Given the description of an element on the screen output the (x, y) to click on. 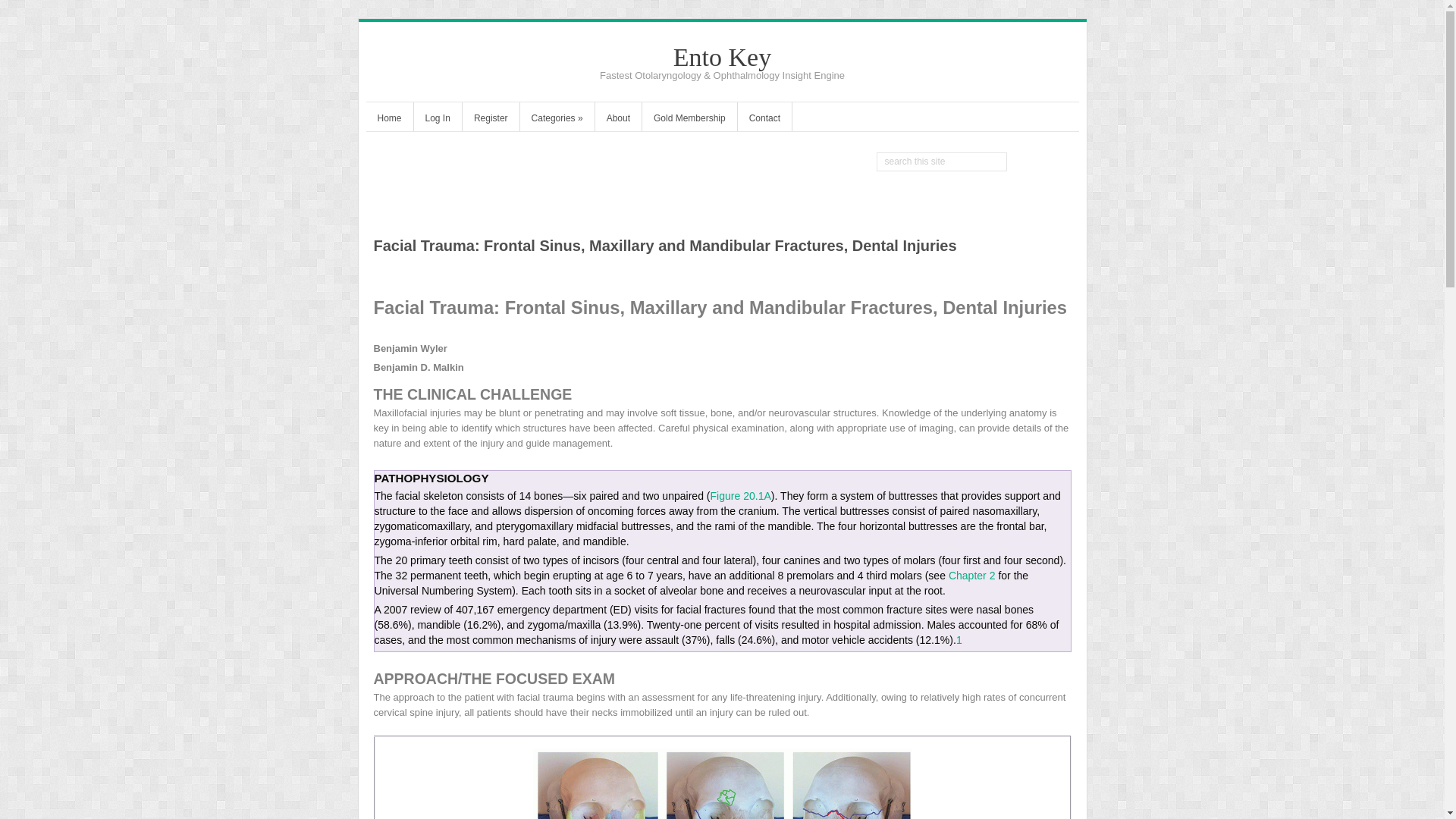
Ento Key (721, 57)
Home (388, 119)
Register (491, 119)
Ento Key (721, 57)
About (618, 119)
Figure 20.1A (740, 495)
Contact (765, 119)
Chapter 2 (972, 575)
Gold Membership (689, 119)
Log In (437, 119)
